Given the description of an element on the screen output the (x, y) to click on. 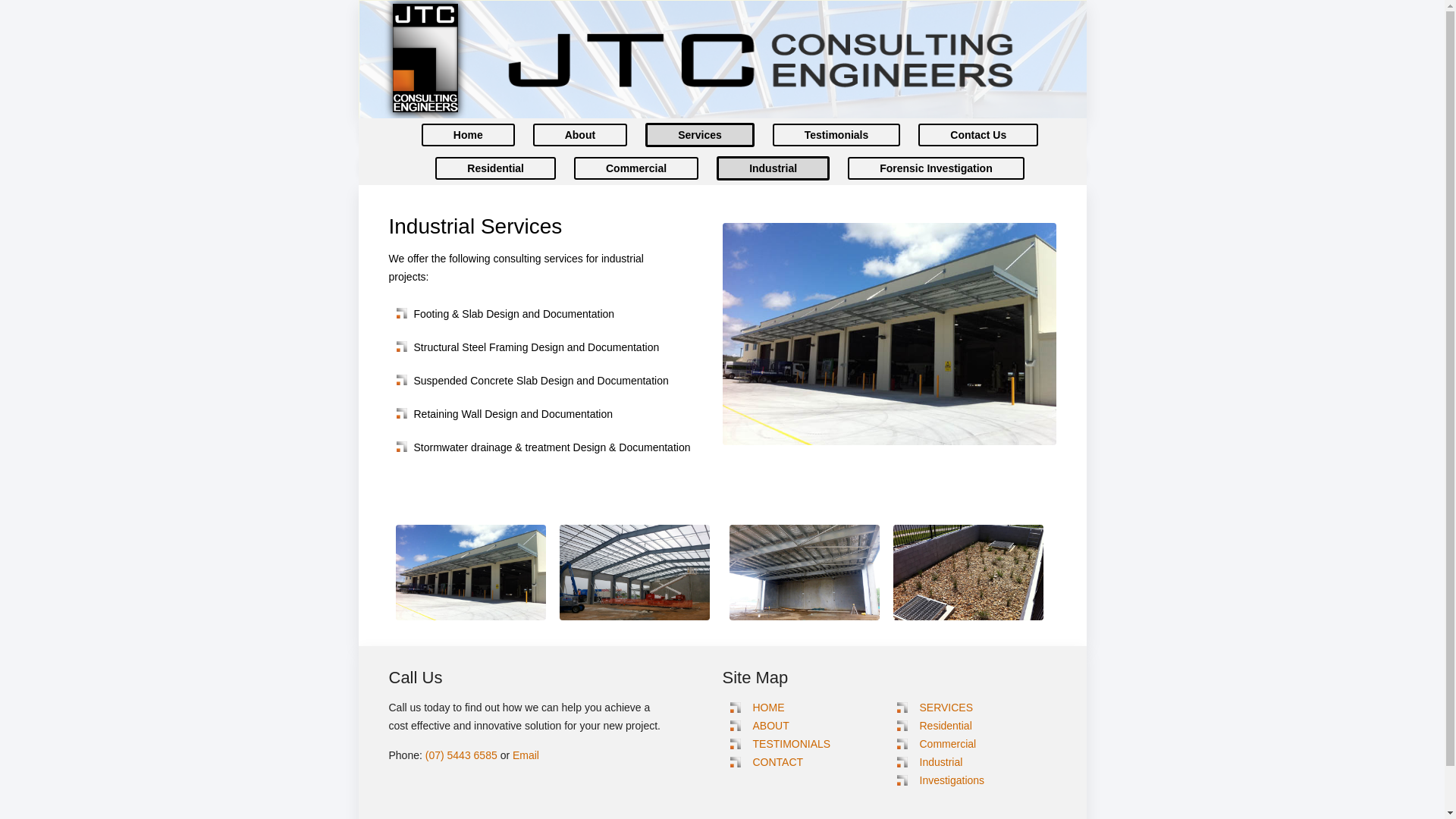
HOME Element type: text (768, 707)
(07) 5443 6585 Element type: text (462, 755)
Contact Us Element type: text (978, 134)
Services Element type: text (699, 134)
Investigations Element type: text (951, 780)
Industrial Element type: text (772, 168)
ABOUT Element type: text (770, 725)
Residential Element type: text (495, 167)
Testimonials Element type: text (836, 134)
About Element type: text (580, 134)
Industrial Element type: text (940, 762)
Commercial Element type: text (636, 167)
Home Element type: text (467, 134)
Forensic Investigation Element type: text (935, 167)
Commercial Element type: text (947, 743)
TESTIMONIALS Element type: text (791, 743)
Residential Element type: text (945, 725)
SERVICES Element type: text (945, 707)
CONTACT Element type: text (777, 762)
JTC Consulting Engineers Element type: hover (759, 60)
Email Element type: text (525, 755)
